Given the description of an element on the screen output the (x, y) to click on. 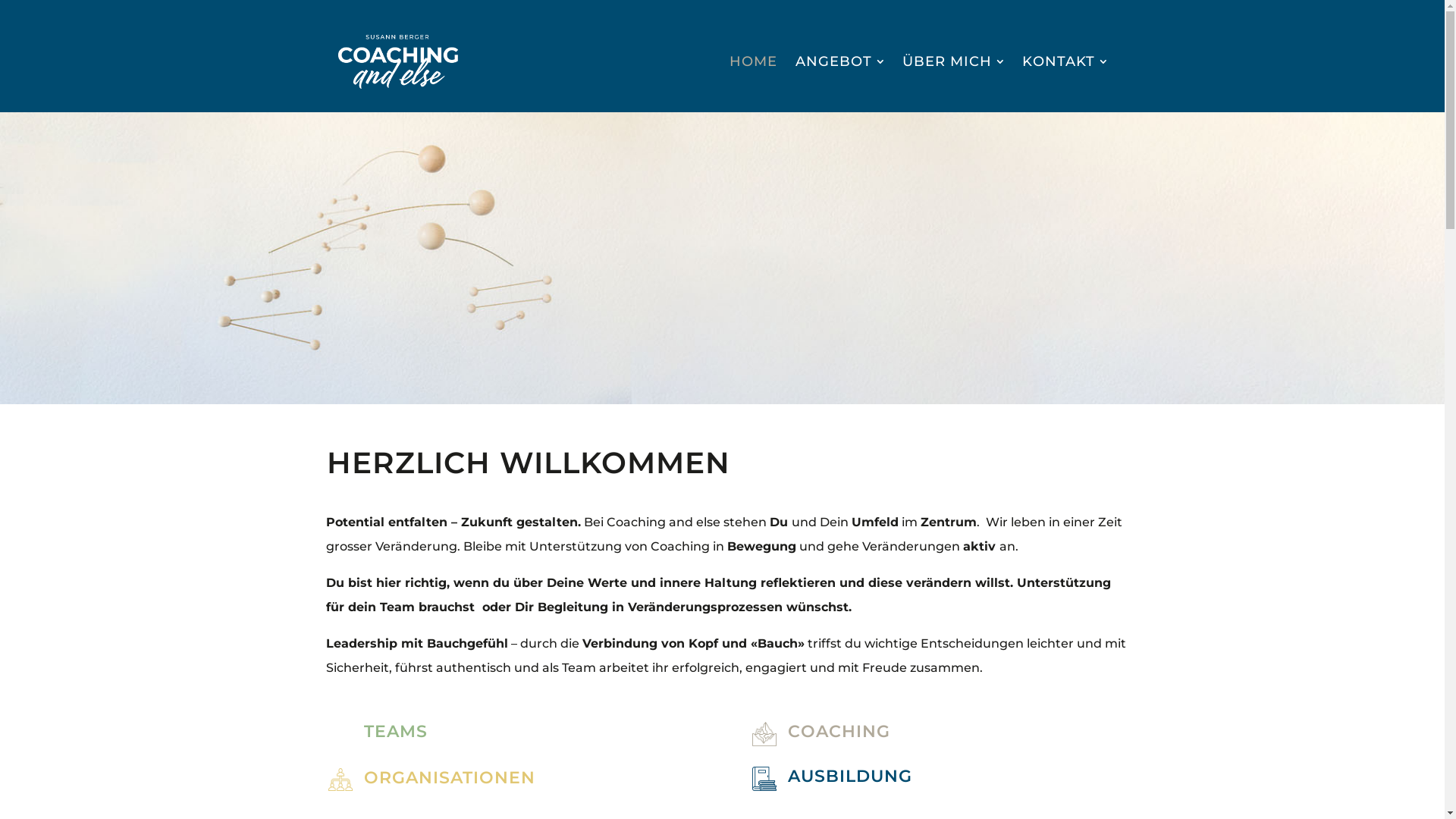
KONTAKT Element type: text (1064, 61)
susann-berger_coachingandelse_10 Element type: hover (722, 258)
HOME Element type: text (753, 61)
CaE_LOGO_neg Element type: hover (398, 61)
ANGEBOT Element type: text (839, 61)
